Given the description of an element on the screen output the (x, y) to click on. 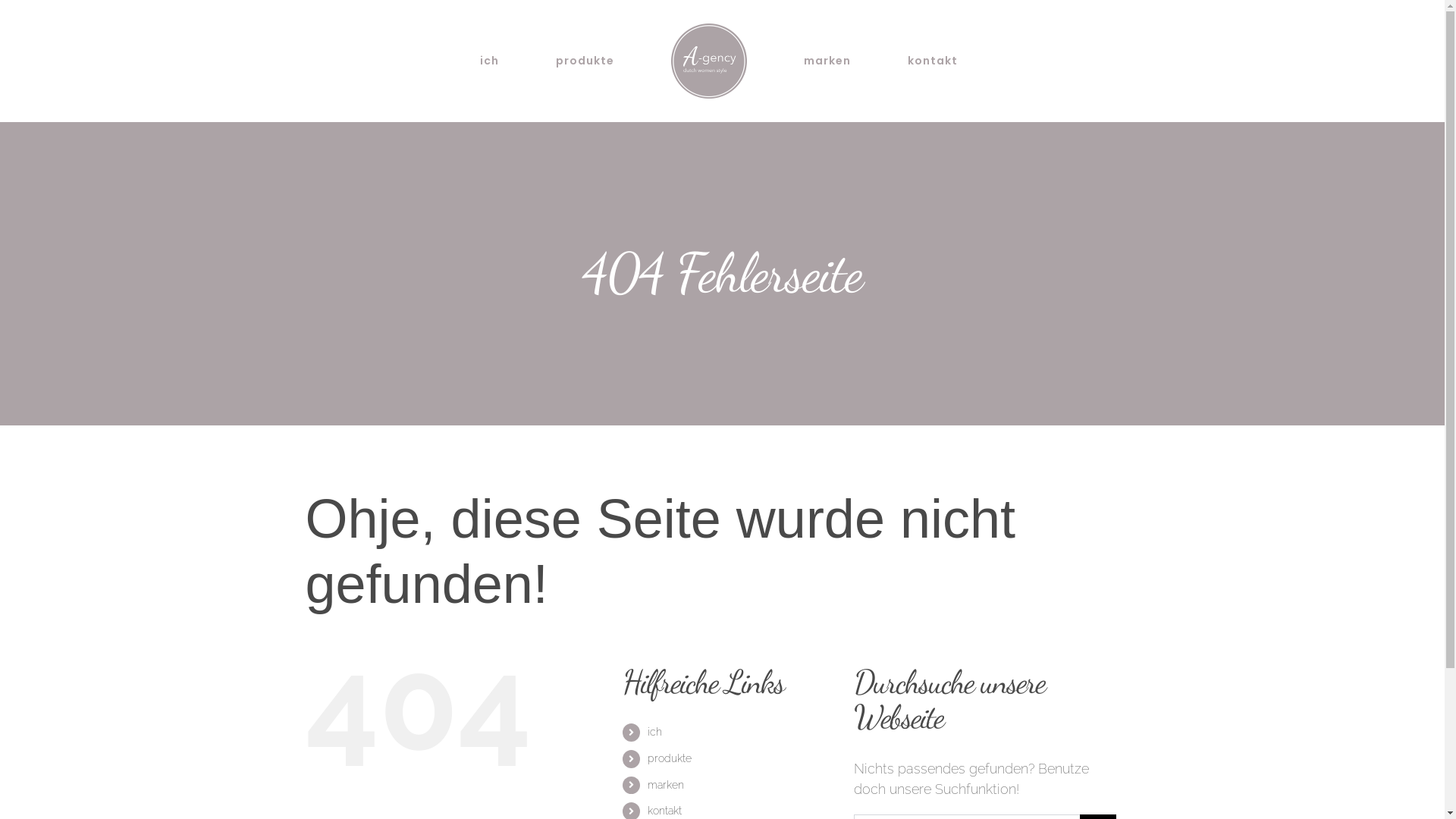
kontakt Element type: text (664, 810)
produkte Element type: text (669, 758)
marken Element type: text (826, 60)
kontakt Element type: text (932, 60)
produkte Element type: text (584, 60)
ich Element type: text (654, 731)
ich Element type: text (489, 60)
marken Element type: text (665, 784)
